Given the description of an element on the screen output the (x, y) to click on. 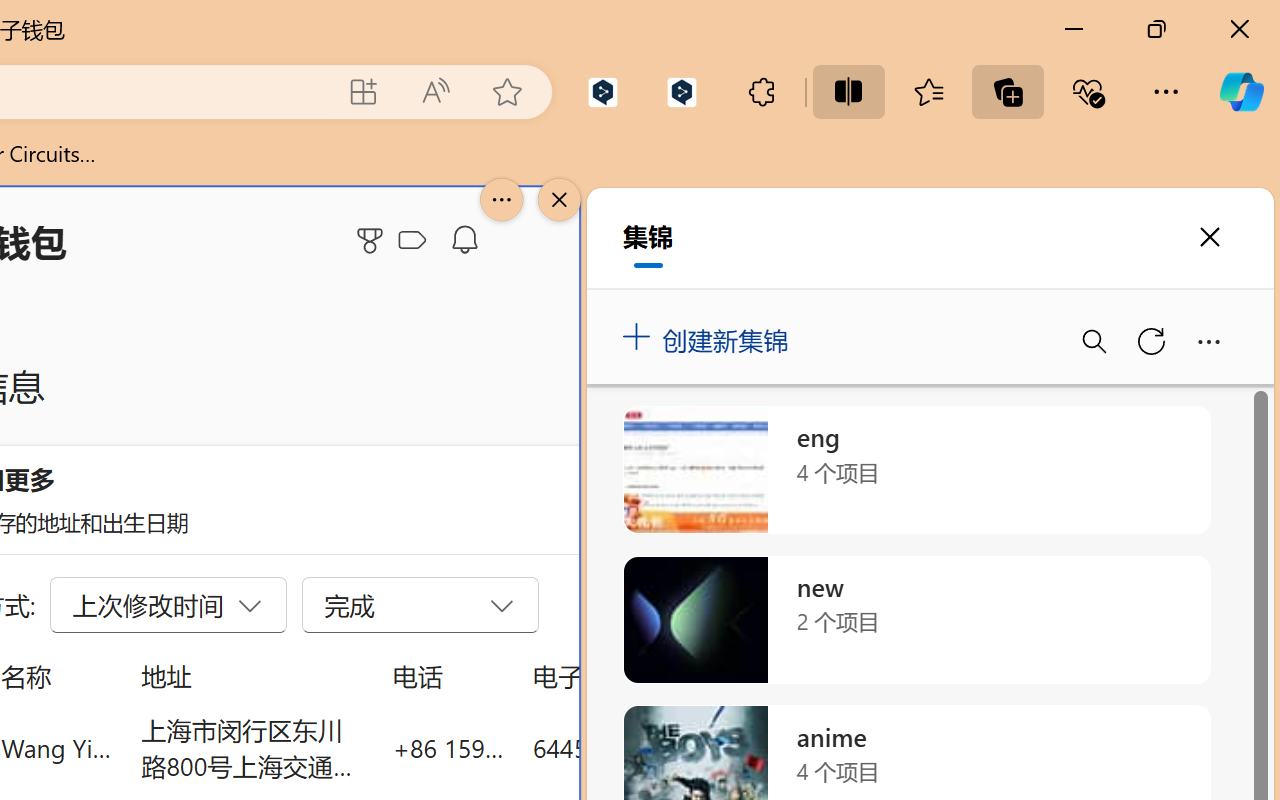
Copilot (Ctrl+Shift+.) (1241, 91)
Class: ___1lmltc5 f1agt3bx f12qytpq (411, 241)
+86 159 0032 4640 (447, 747)
Microsoft Rewards (373, 240)
